Given the description of an element on the screen output the (x, y) to click on. 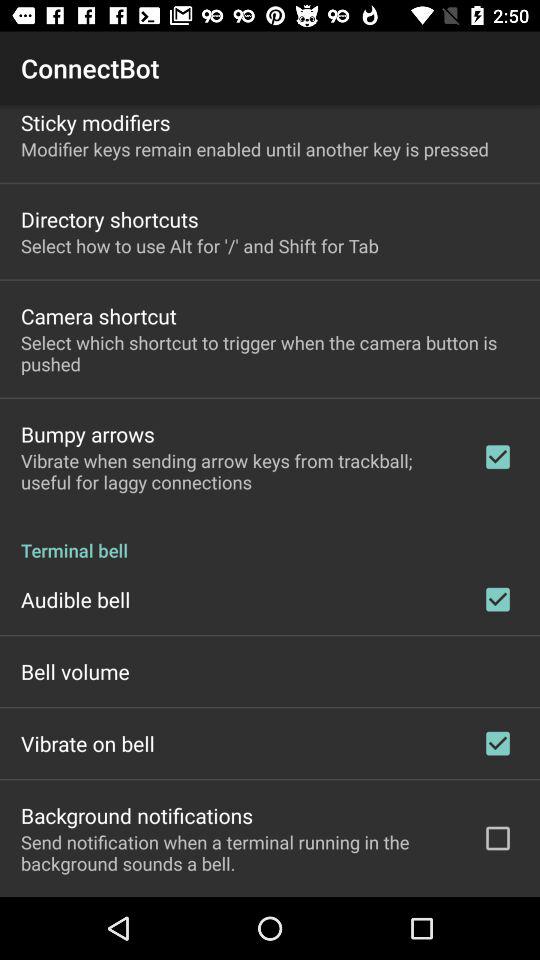
turn on the audible bell app (75, 599)
